Given the description of an element on the screen output the (x, y) to click on. 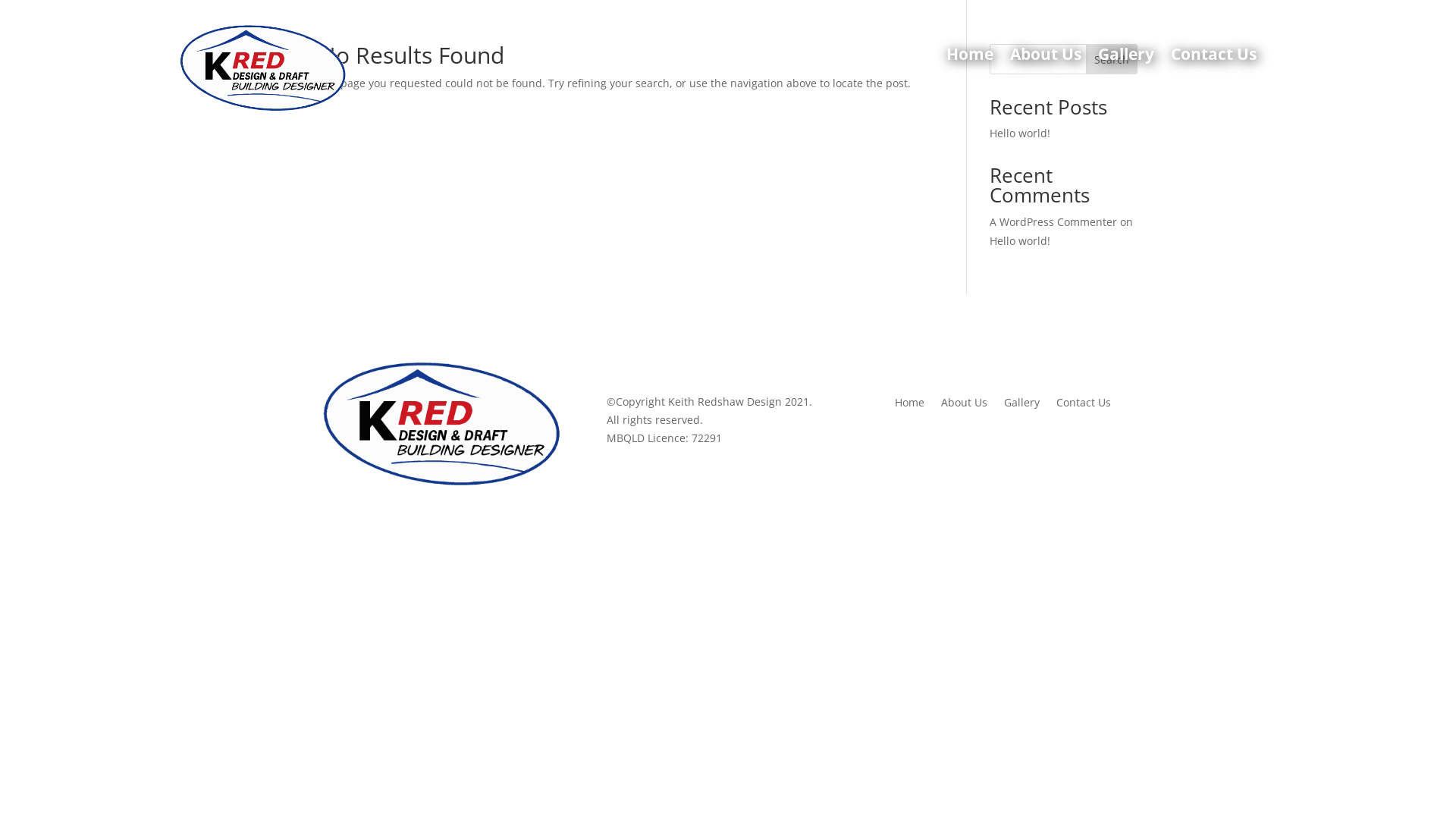
A WordPress Commenter Element type: text (1053, 221)
Search Element type: text (1111, 58)
Home Element type: text (909, 399)
Home Element type: text (969, 57)
Contact Us Element type: text (1213, 57)
Gallery Element type: text (1126, 57)
kr-design-logo1 Element type: hover (260, 66)
About Us Element type: text (964, 399)
Hello world! Element type: text (1019, 240)
Contact Us Element type: text (1083, 399)
kr-design-logo1 Element type: hover (439, 421)
About Us Element type: text (1045, 57)
Gallery Element type: text (1021, 399)
Hello world! Element type: text (1019, 132)
